Given the description of an element on the screen output the (x, y) to click on. 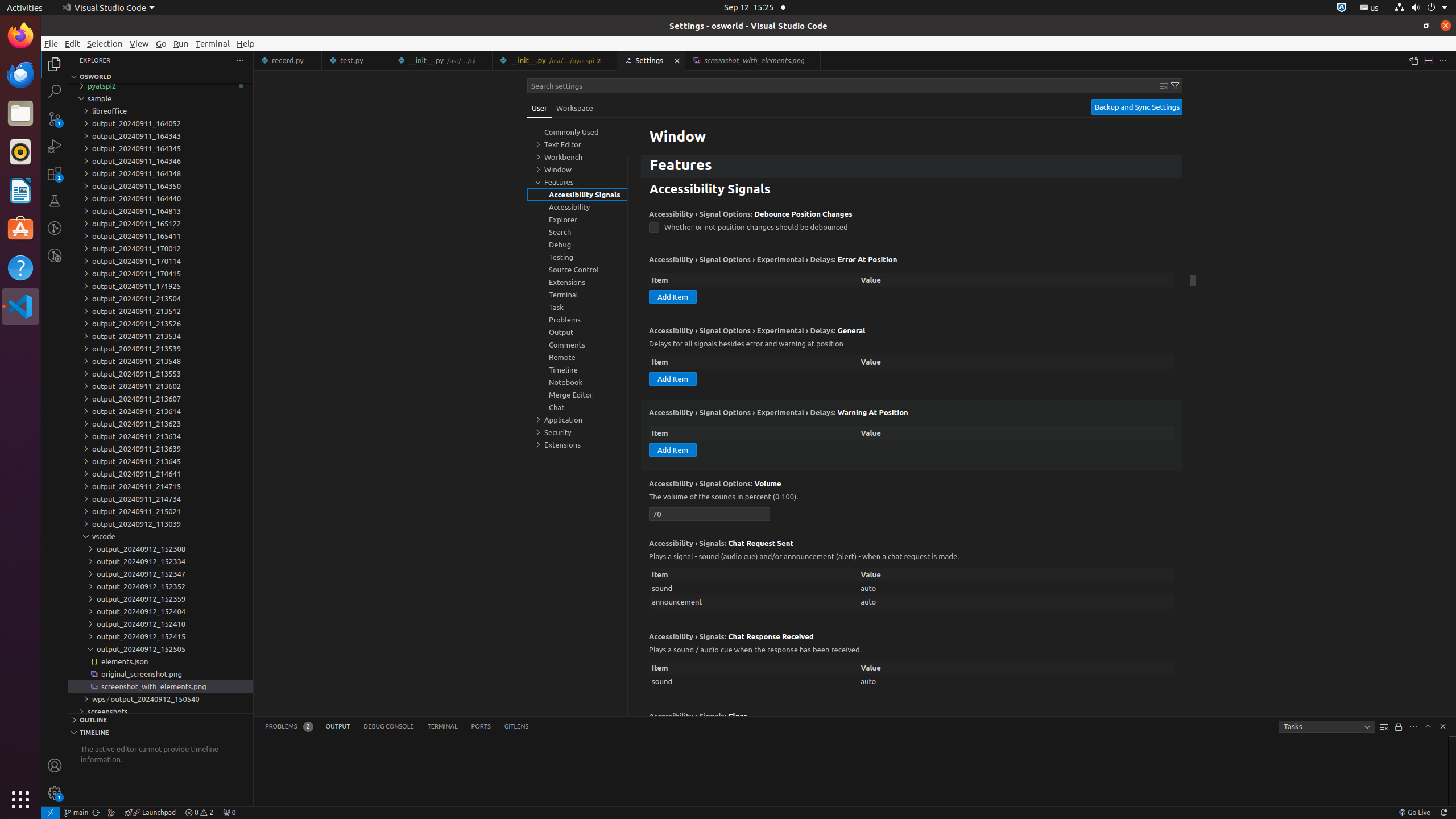
GitLens Element type: page-tab (516, 726)
Commonly Used, group Element type: tree-item (577, 131)
output_20240911_164813 Element type: tree-item (160, 210)
output_20240911_164350 Element type: tree-item (160, 185)
output_20240911_213639 Element type: tree-item (160, 448)
